Given the description of an element on the screen output the (x, y) to click on. 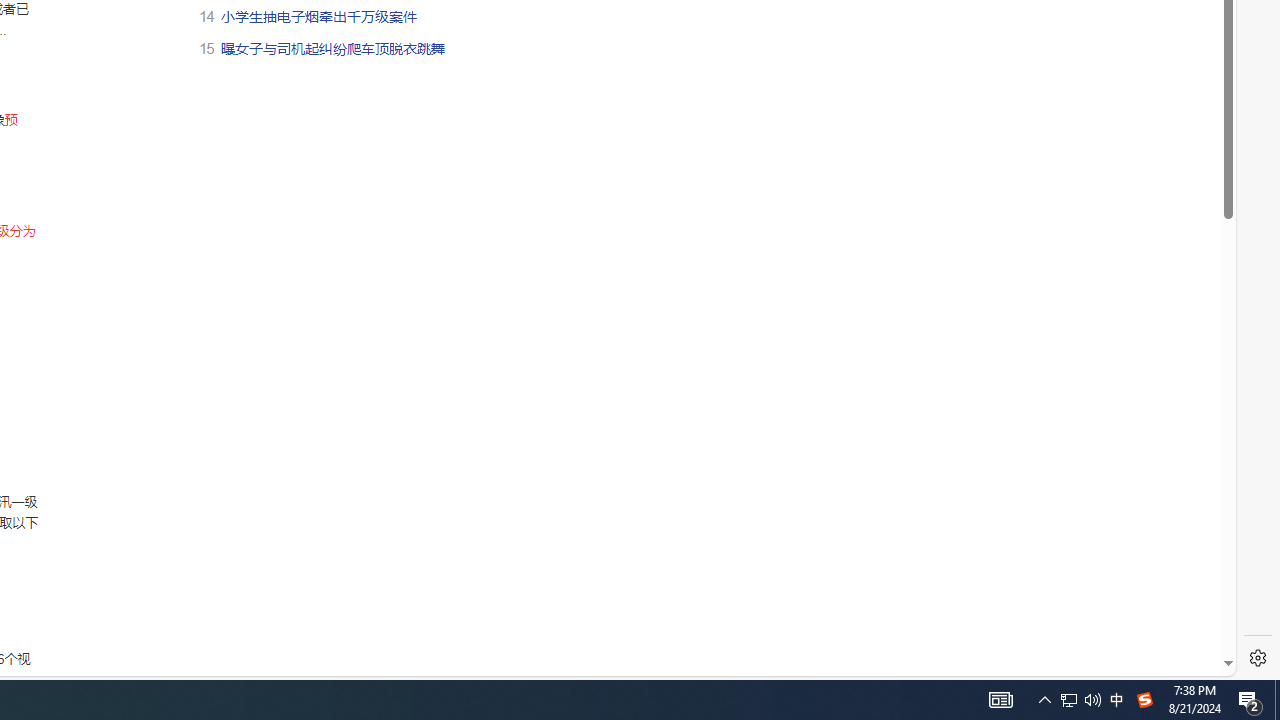
Settings (1258, 658)
